Given the description of an element on the screen output the (x, y) to click on. 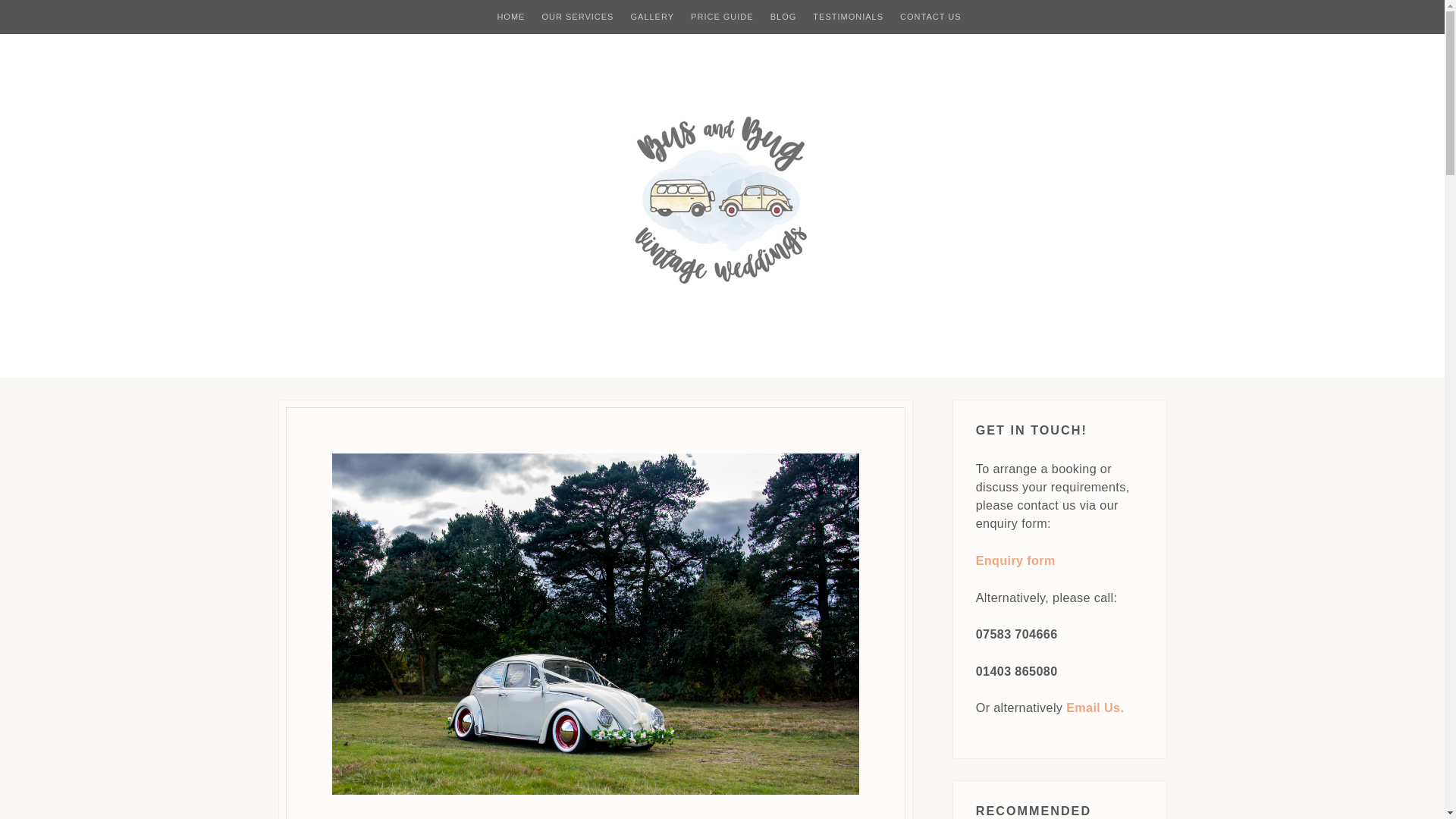
CONTACT US (929, 16)
Email Us. (1094, 707)
TESTIMONIALS (847, 16)
BLOG (783, 16)
GALLERY (652, 16)
PRICE GUIDE (722, 16)
Enquiry form (1015, 560)
HOME (510, 16)
OUR SERVICES (576, 16)
